Given the description of an element on the screen output the (x, y) to click on. 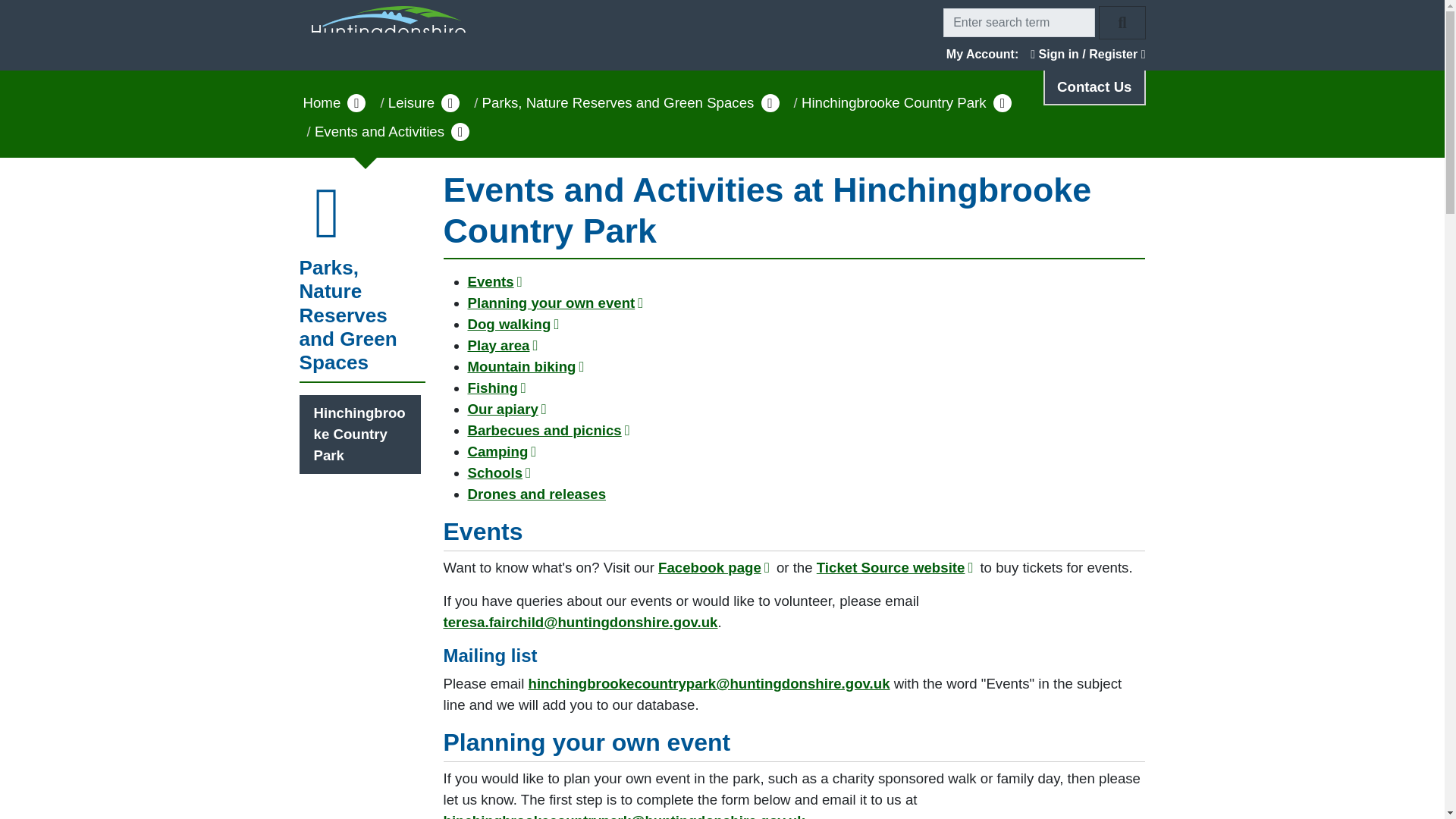
Visit Facebook (715, 567)
Search Here (1018, 22)
Email Hinchingbrooke Country Park (625, 816)
Header Navigation (721, 22)
Visit Ticket Source website (895, 567)
Email Teresa Fairchild (579, 621)
Email Hinchingbrooke Country Park (708, 683)
Go to Hinchingbrooke Country Park (360, 434)
